Given the description of an element on the screen output the (x, y) to click on. 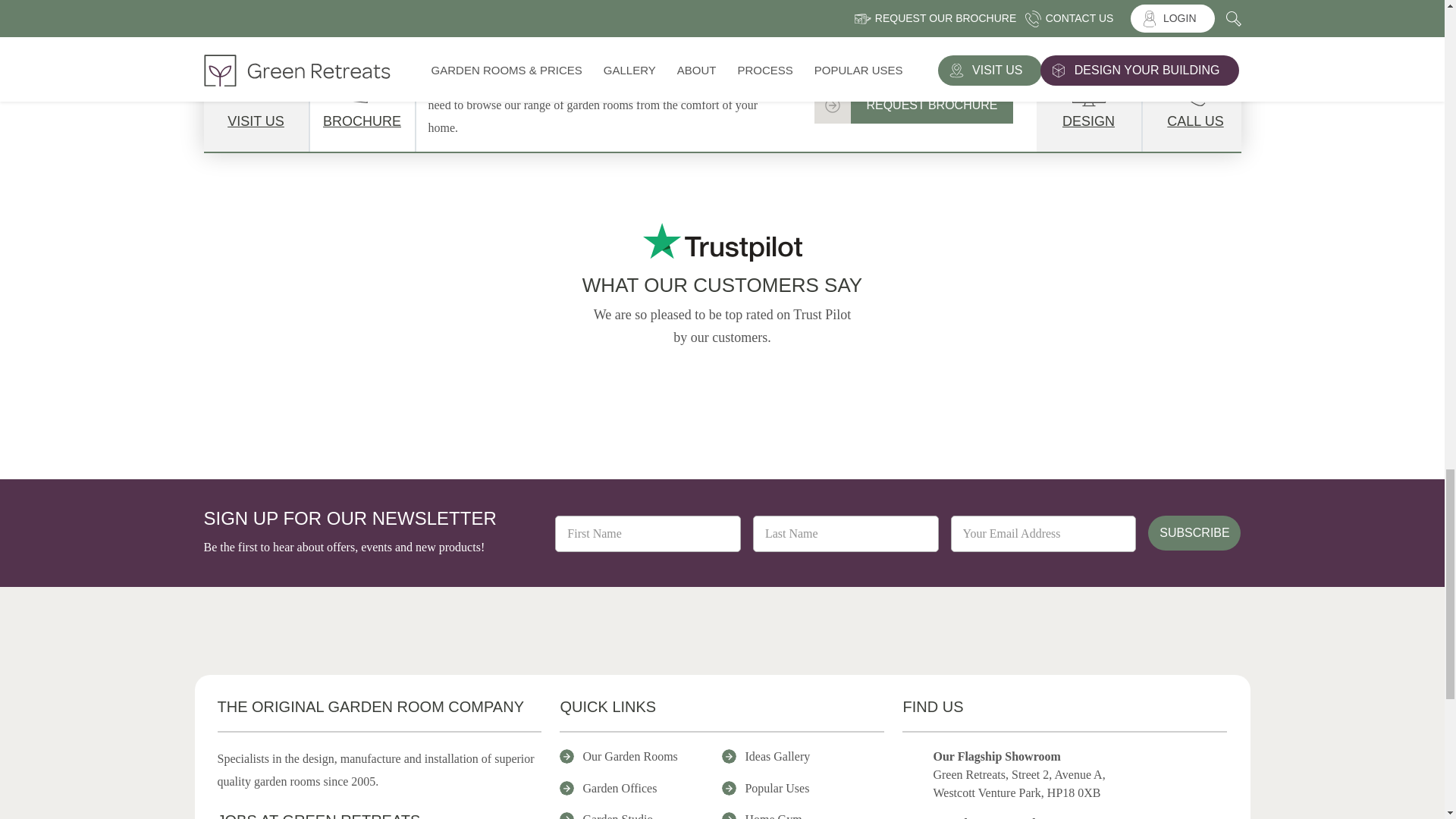
Subscribe (1194, 532)
